Given the description of an element on the screen output the (x, y) to click on. 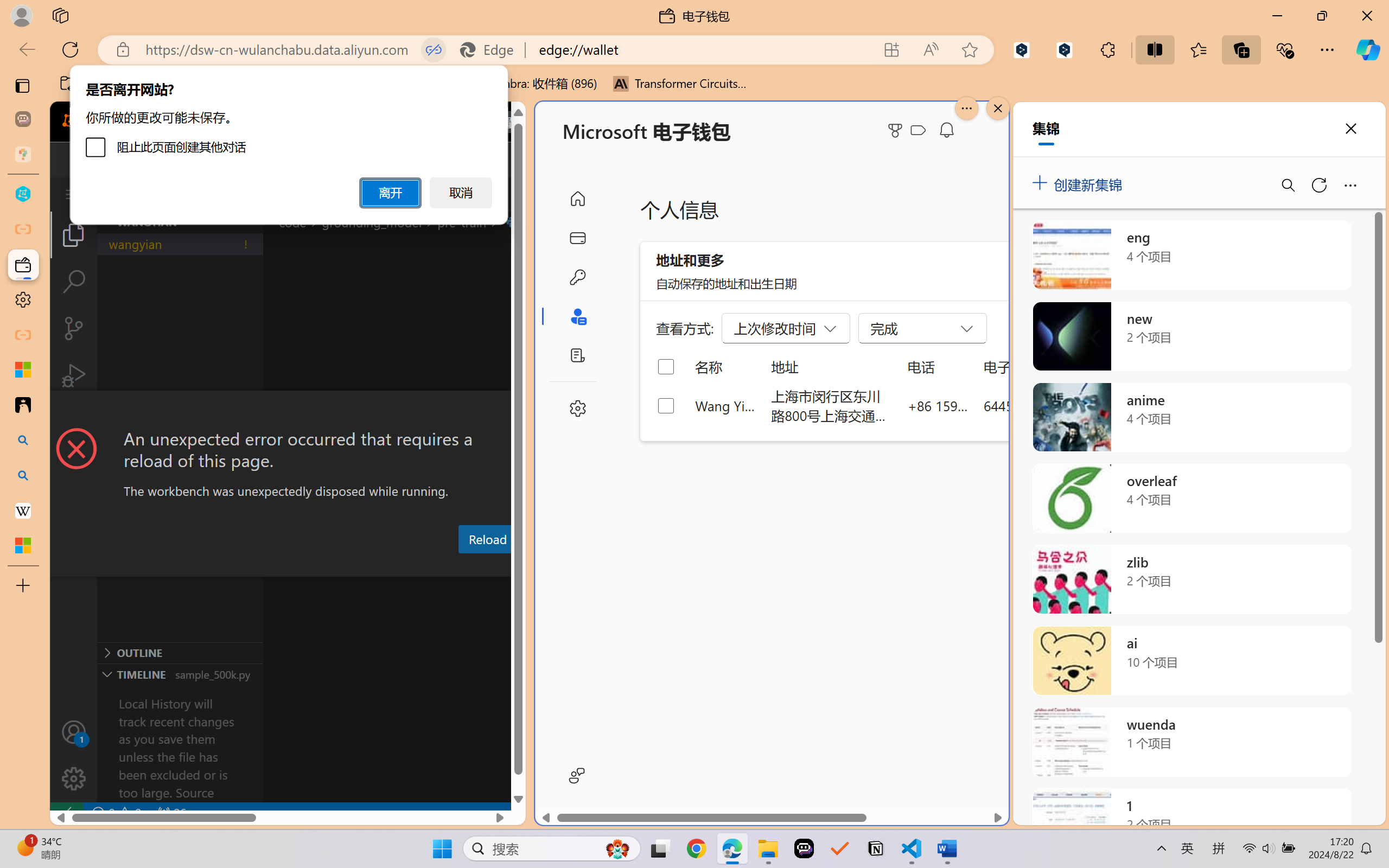
Terminal (Ctrl+`) (553, 565)
Timeline Section (179, 673)
remote (66, 812)
